Given the description of an element on the screen output the (x, y) to click on. 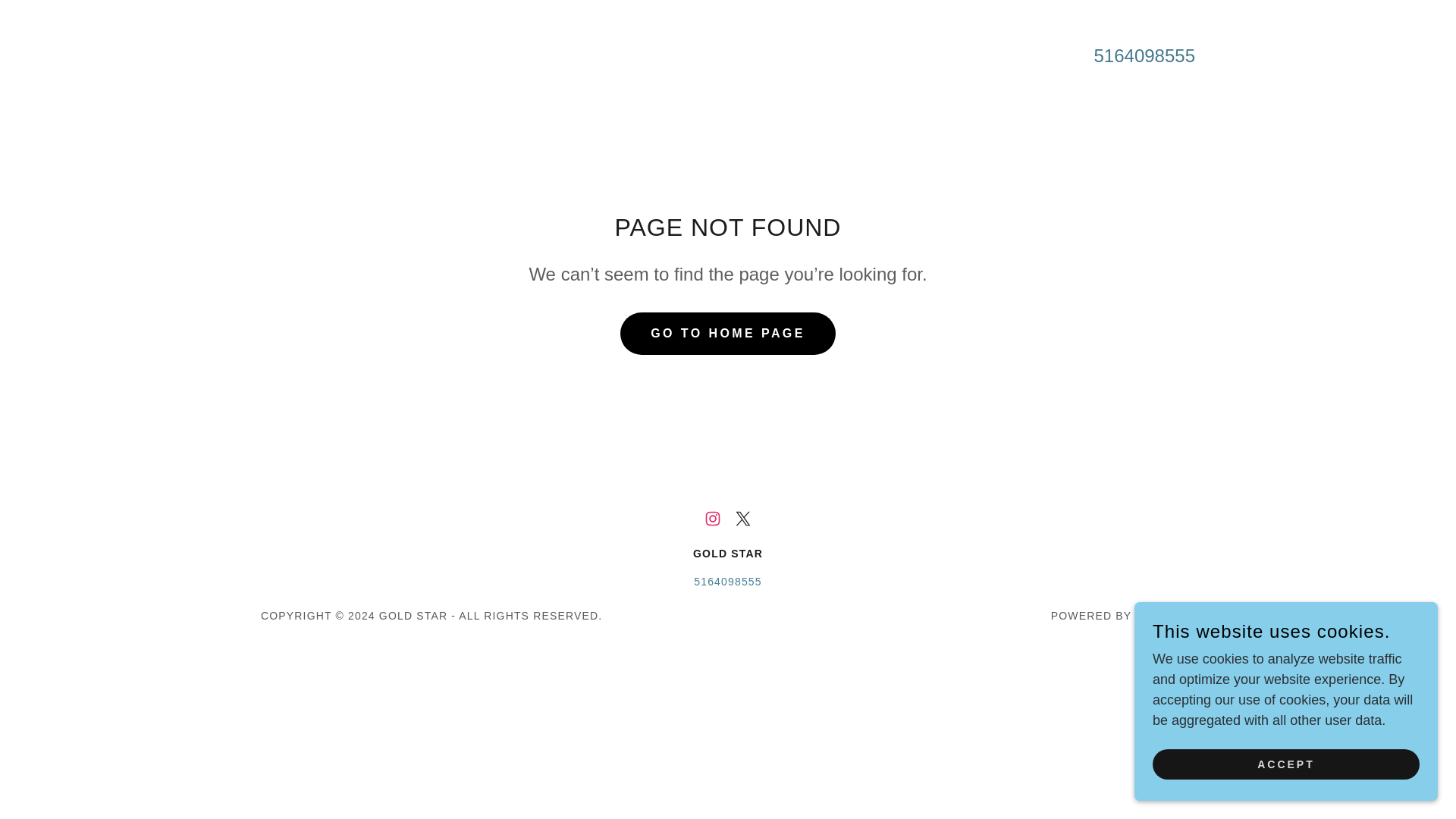
5164098555 (727, 581)
5164098555 (1144, 55)
GO TO HOME PAGE (727, 333)
ACCEPT (1286, 764)
GODADDY (1165, 615)
